Given the description of an element on the screen output the (x, y) to click on. 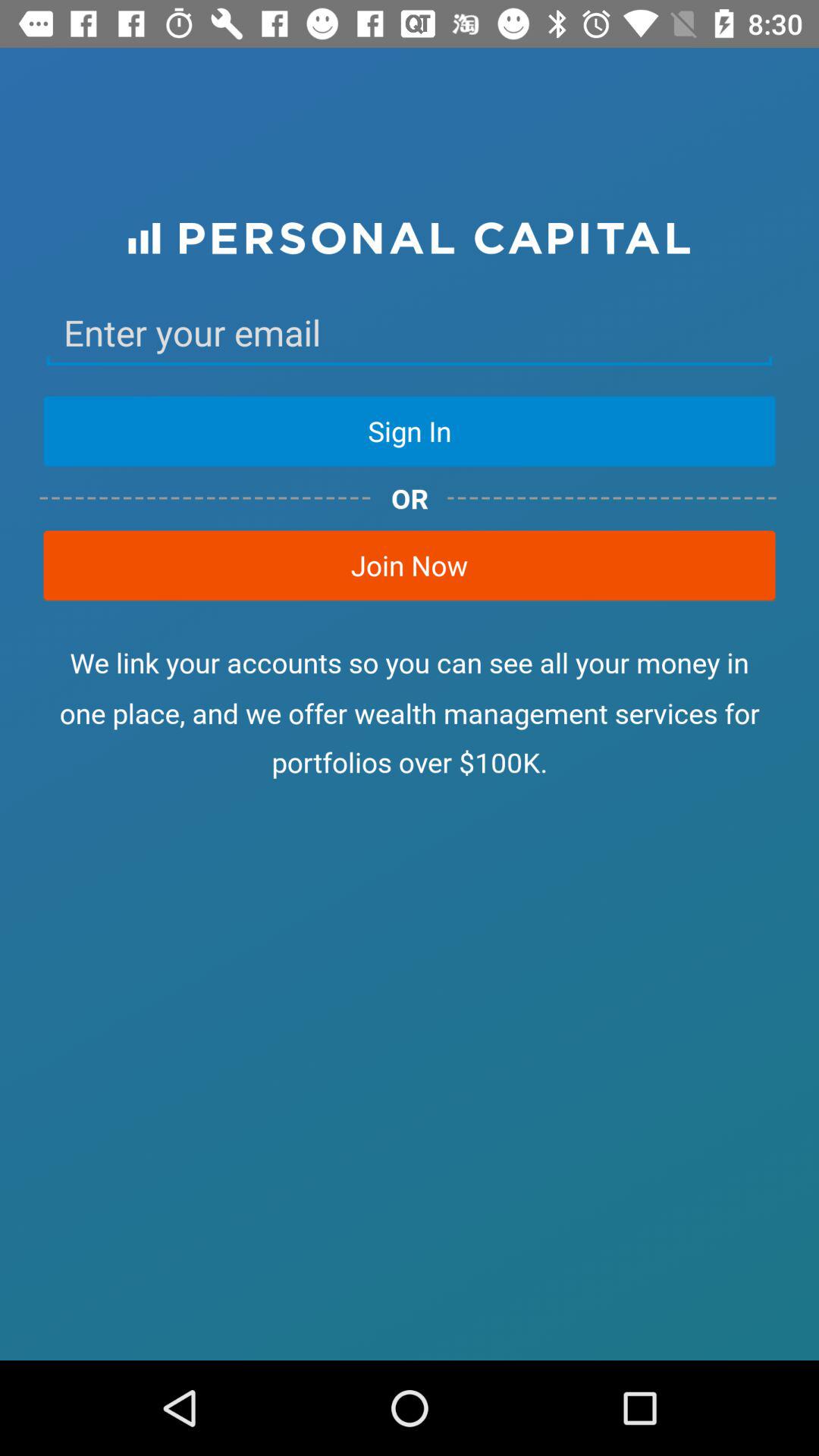
press item above the we link your (409, 565)
